Given the description of an element on the screen output the (x, y) to click on. 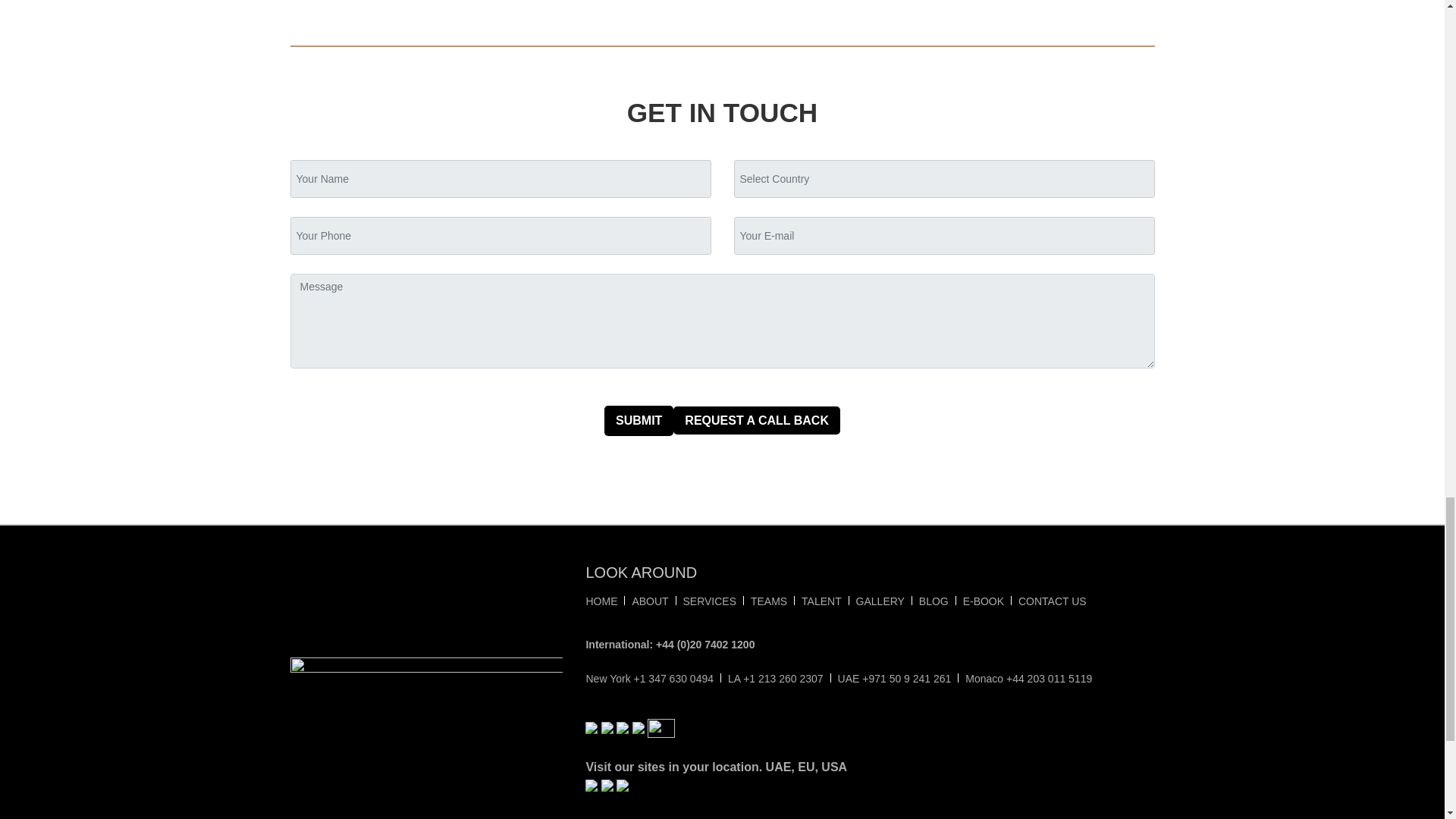
SUBMIT (638, 420)
